Given the description of an element on the screen output the (x, y) to click on. 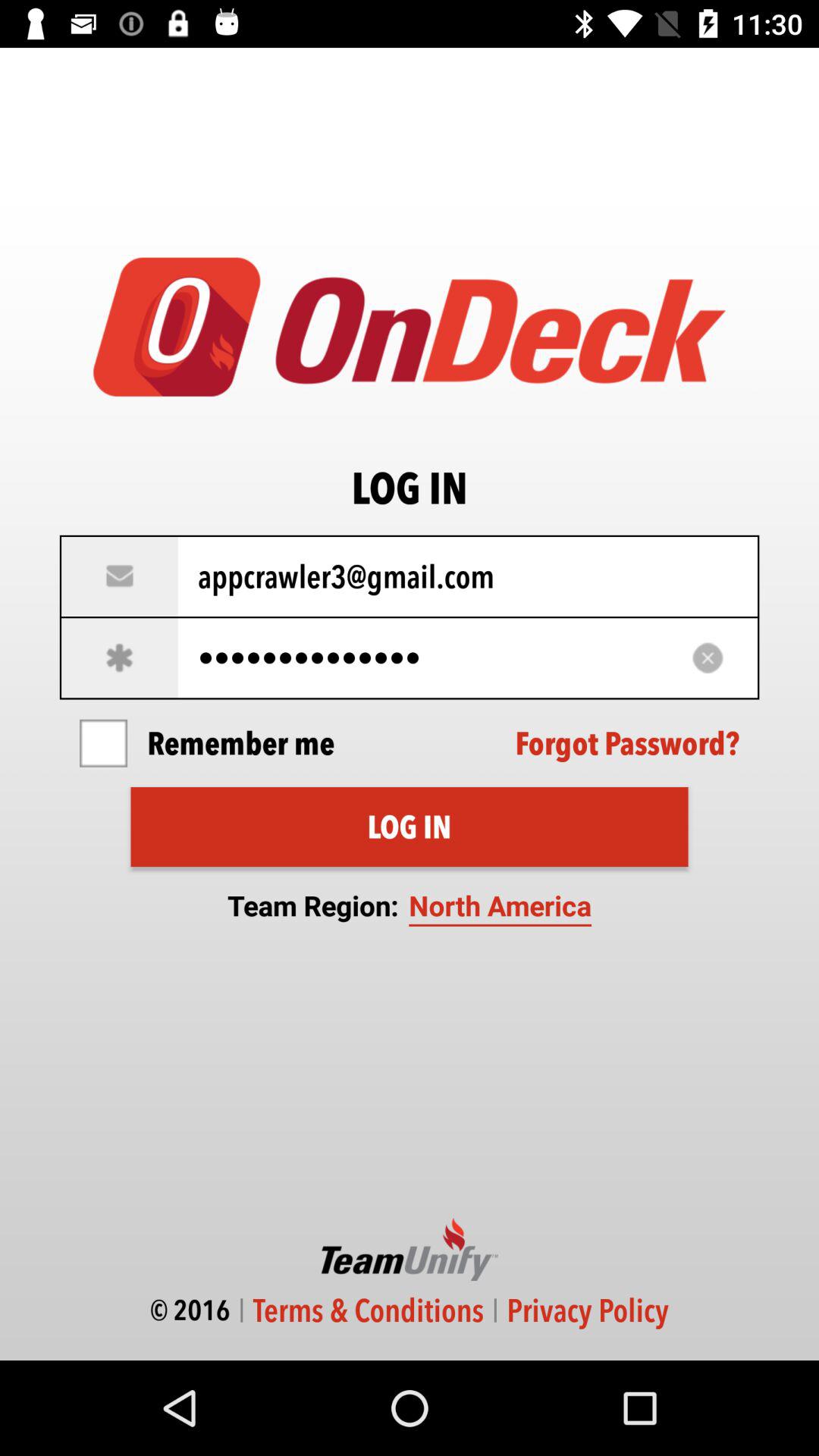
click on forgot password (627, 742)
click on second text field (409, 657)
click on the icon ondeck (409, 326)
checkbox before remember me (103, 743)
